Given the description of an element on the screen output the (x, y) to click on. 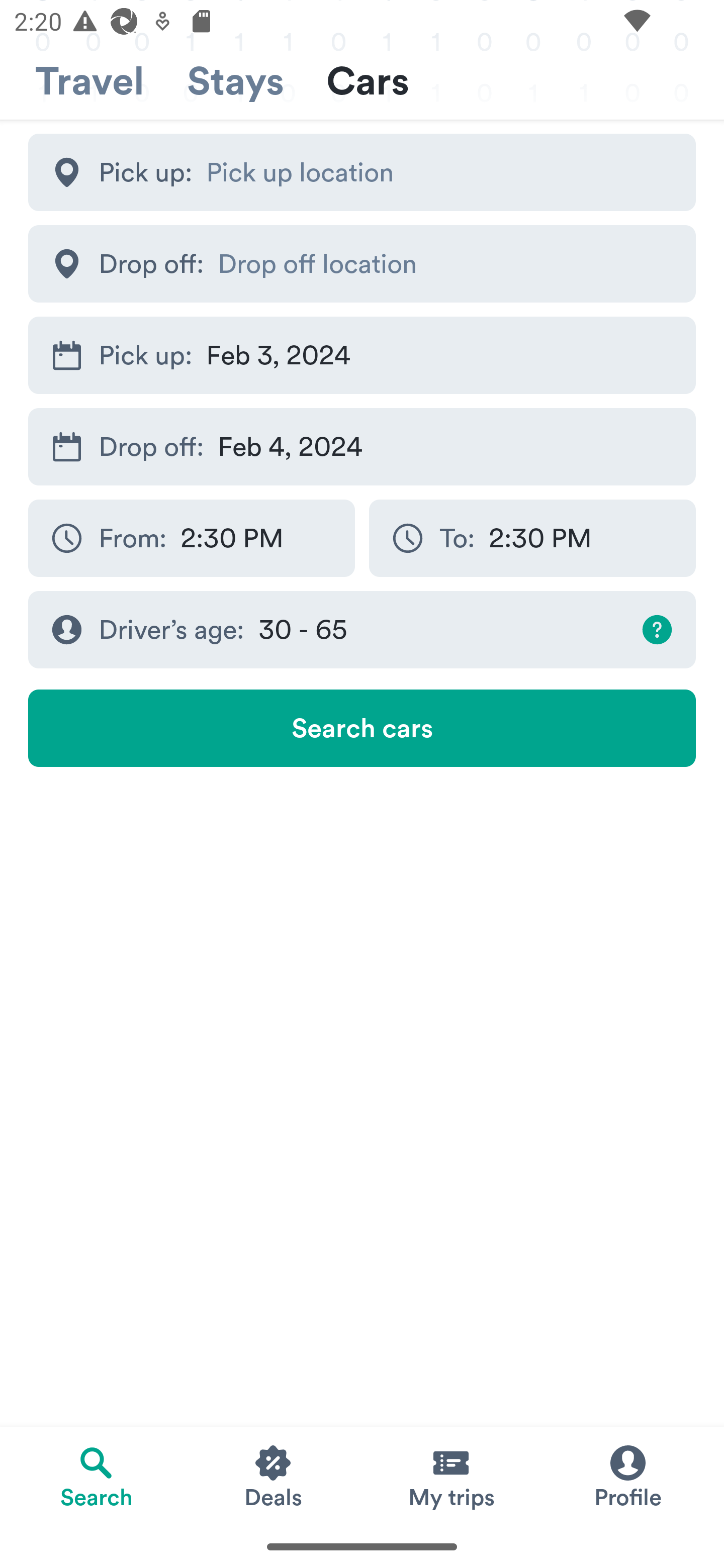
Travel (89, 81)
Stays (235, 81)
Cars (367, 81)
Pick up: (361, 172)
Drop off: (361, 263)
Pick up: Feb 3, 2024 (361, 355)
Drop off: Feb 4, 2024 (361, 446)
From: 2:30 PM (191, 537)
To: 2:30 PM (532, 537)
Driver’s age: 30 - 65 (361, 630)
Search cars (361, 727)
Deals (273, 1475)
My trips (450, 1475)
Profile (627, 1475)
